Given the description of an element on the screen output the (x, y) to click on. 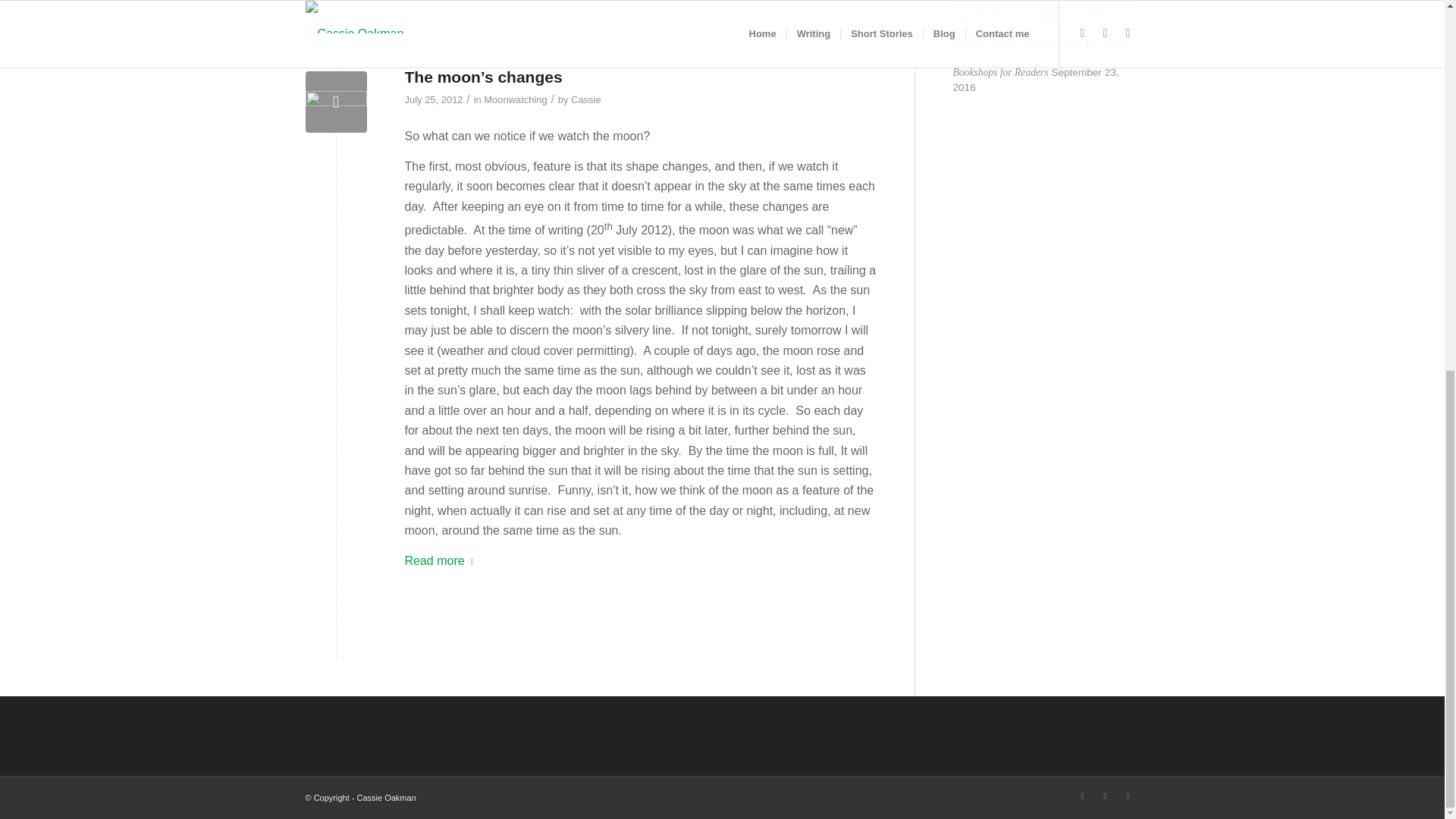
Twitter (1104, 794)
Read more (442, 561)
Cassie (585, 99)
Posts by Cassie (585, 99)
Moonwatching (515, 99)
Facebook (1081, 794)
